Given the description of an element on the screen output the (x, y) to click on. 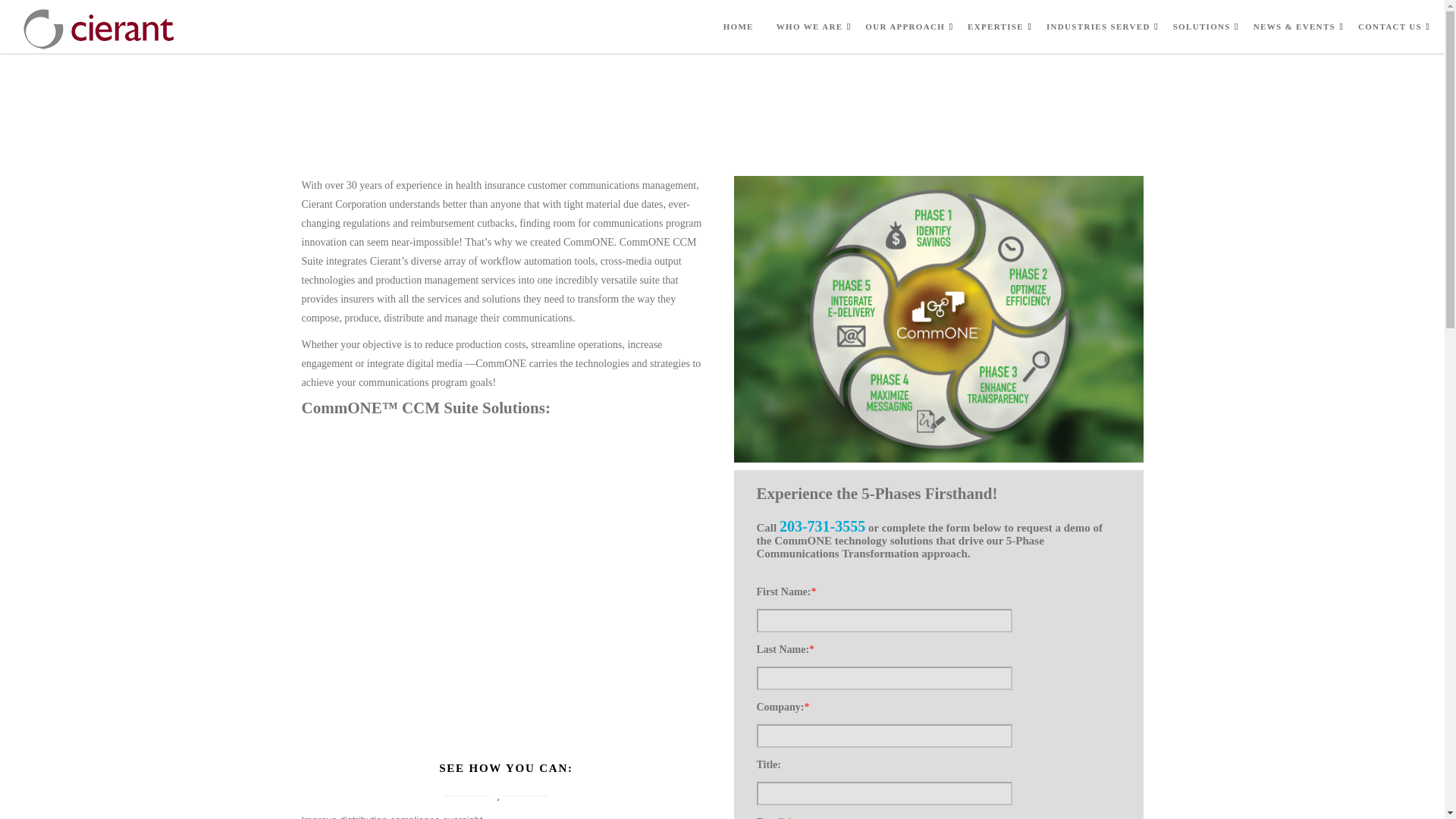
EXPERTISE (995, 26)
SOLUTIONS (1201, 26)
OUR APPROACH (904, 26)
INDUSTRIES SERVED (1098, 26)
WHO WE ARE (809, 26)
CONTACT US (1390, 26)
